Given the description of an element on the screen output the (x, y) to click on. 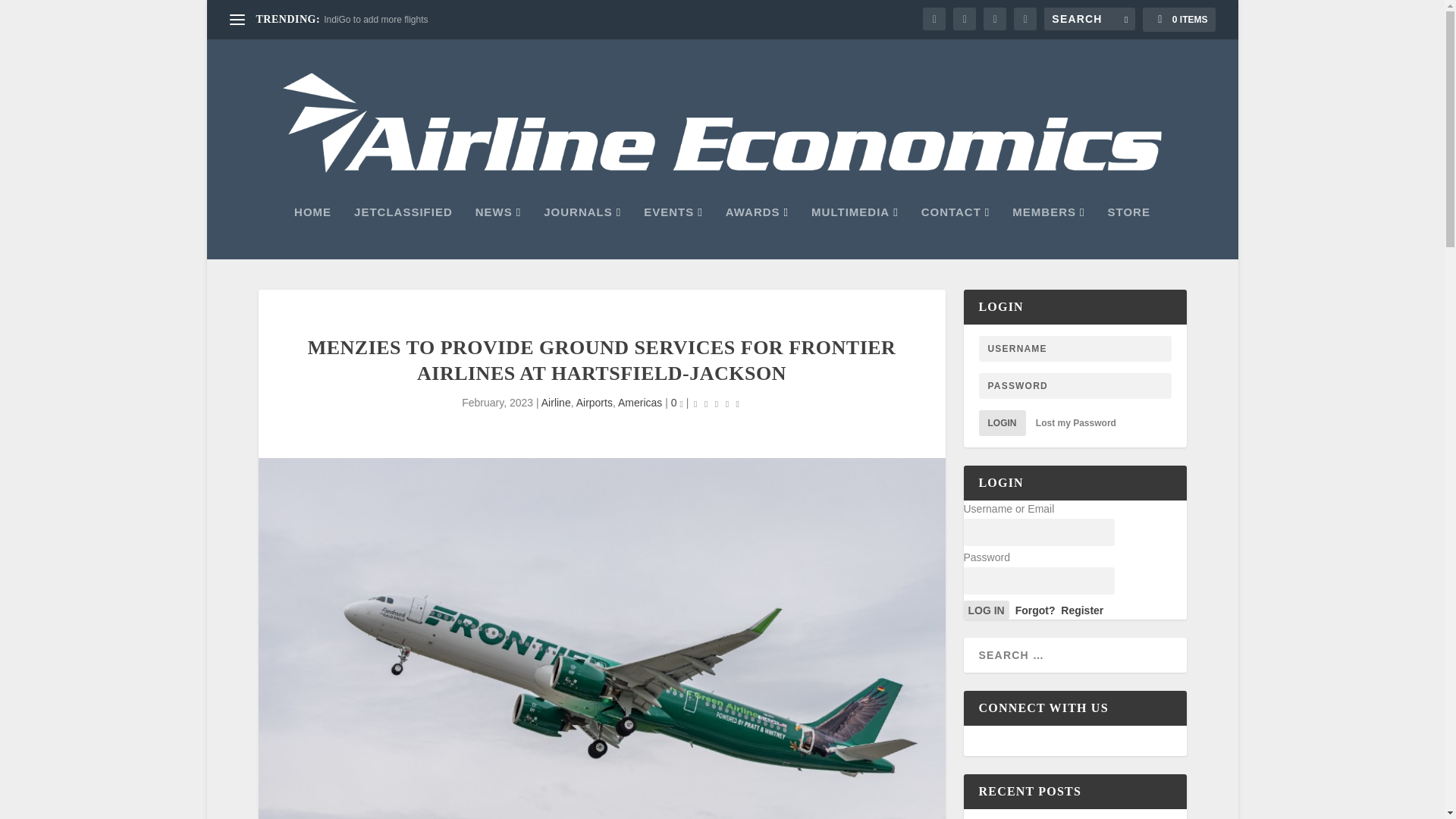
log in (985, 609)
JETCLASSIFIED (402, 232)
HOME (312, 232)
JOURNALS (582, 232)
IndiGo to add more flights (375, 19)
NEWS (498, 232)
Rating: 0.00 (716, 403)
comment count (680, 404)
